Given the description of an element on the screen output the (x, y) to click on. 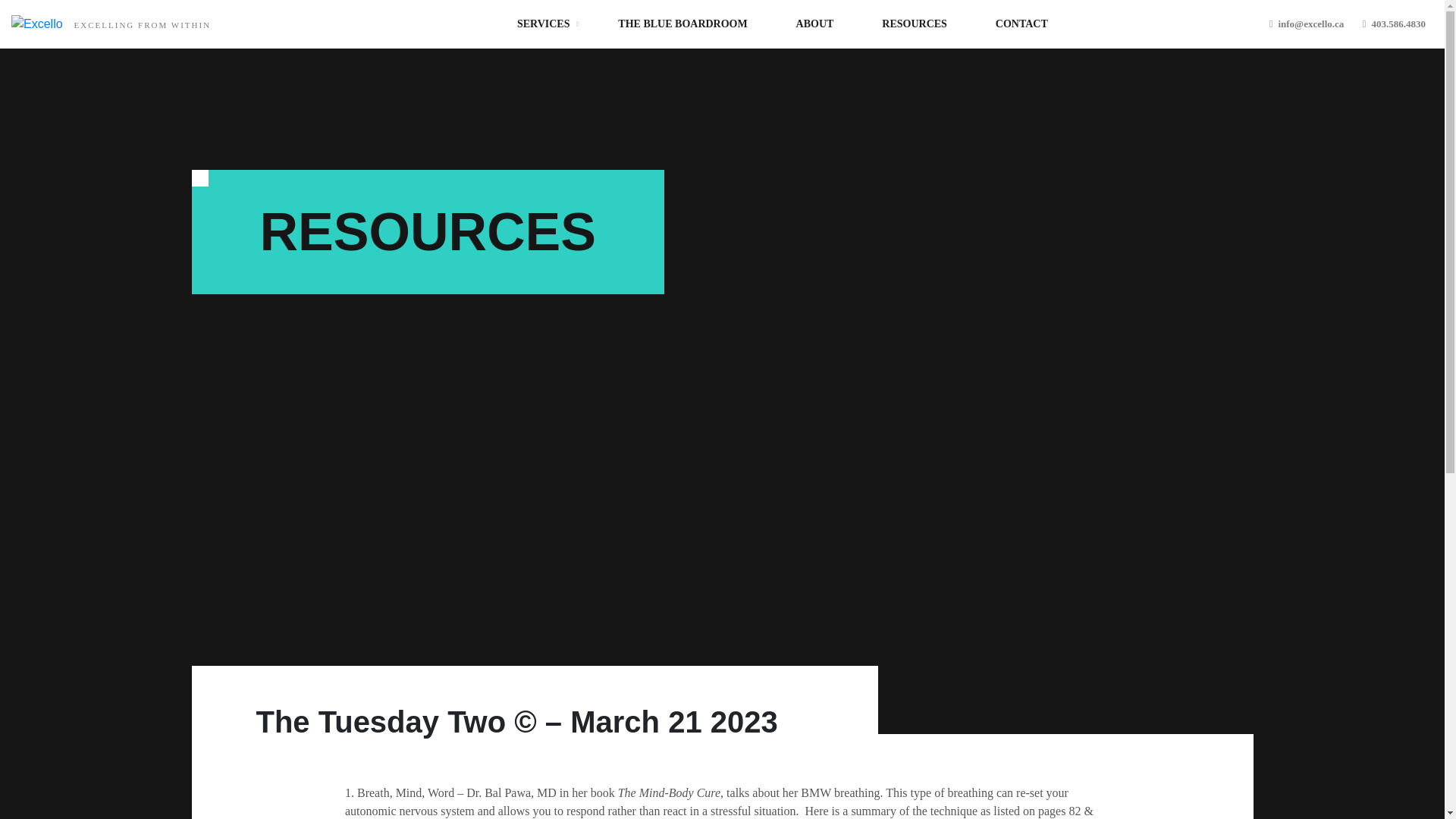
ABOUT (815, 23)
403.586.4830 (1393, 23)
SERVICES (543, 23)
RESOURCES (914, 23)
CONTACT (1021, 23)
THE BLUE BOARDROOM (681, 23)
